Given the description of an element on the screen output the (x, y) to click on. 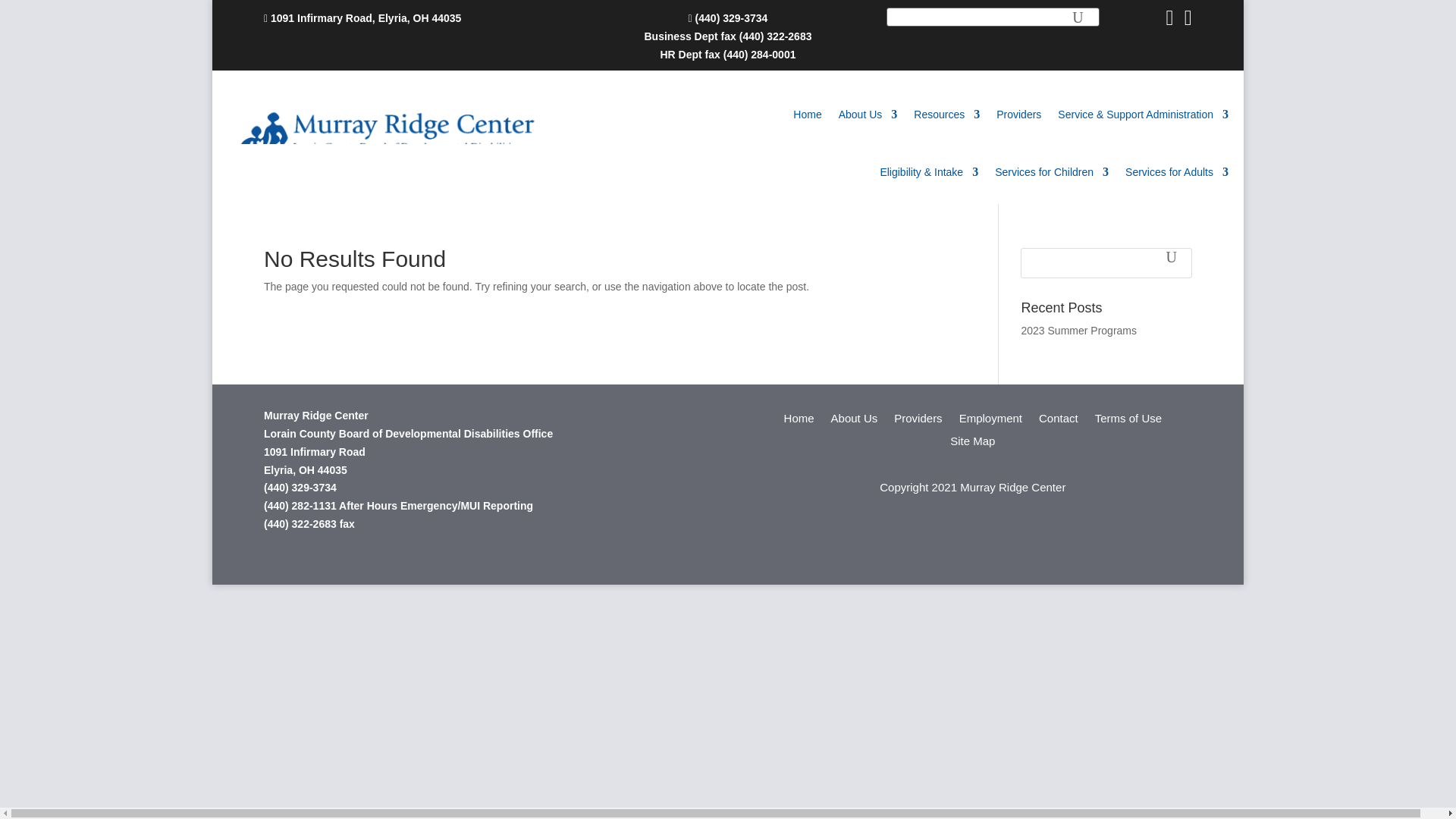
Services for Children (1051, 171)
About Us (868, 114)
Search (1171, 263)
Resources (946, 114)
Search (21, 13)
